Given the description of an element on the screen output the (x, y) to click on. 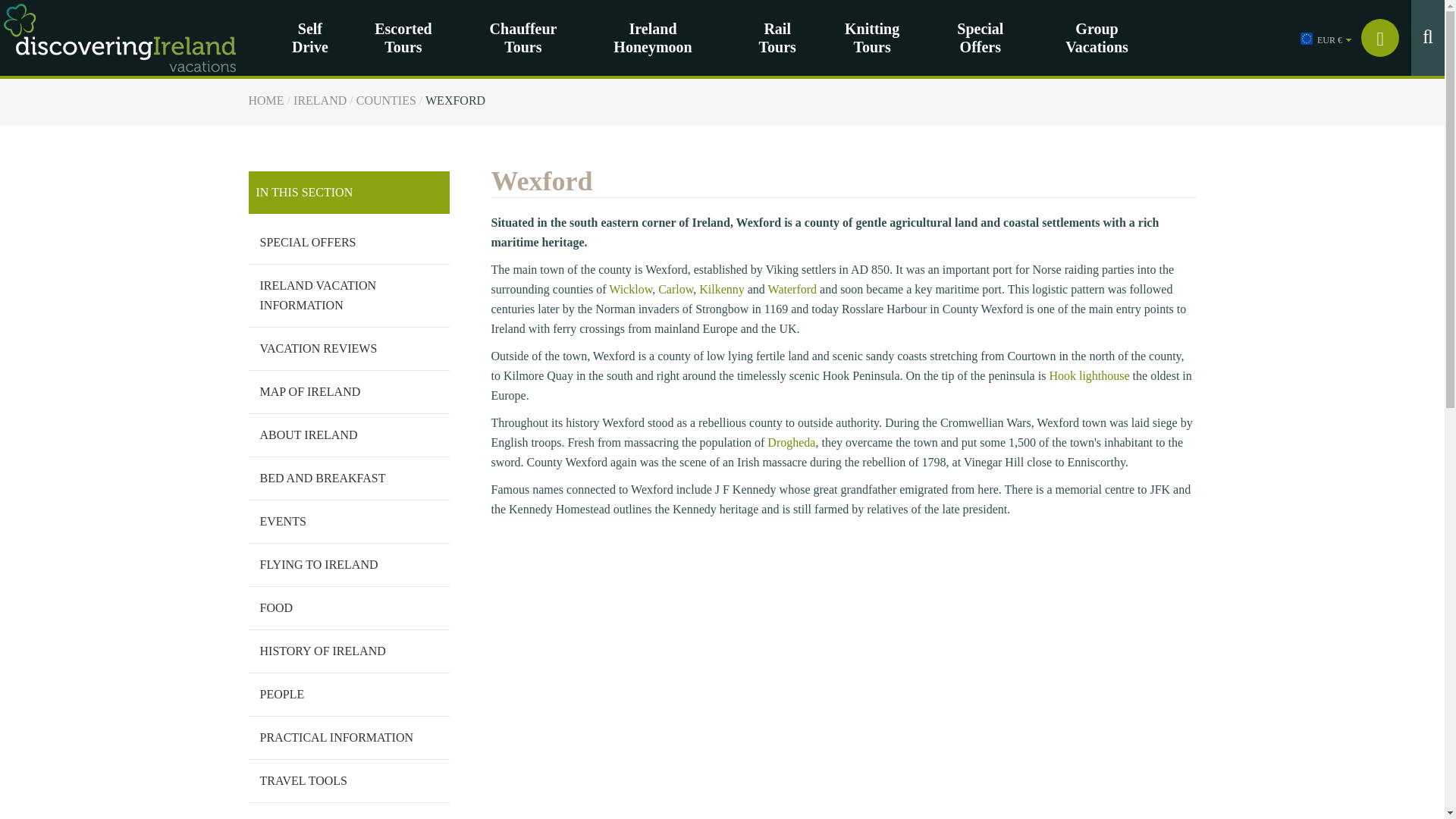
Vacation Reviews (348, 348)
ABOUT IRELAND (348, 435)
Ireland Vacation Information (348, 295)
TRAVEL TOOLS (348, 781)
Map of Ireland (348, 392)
HOME (265, 100)
EVENTS (348, 521)
Events (348, 521)
COUNTIES (386, 100)
FOOD (348, 608)
IRELAND (320, 100)
PEOPLE (348, 694)
Special Offers (348, 242)
BED AND BREAKFAST (348, 478)
Go (920, 115)
